Given the description of an element on the screen output the (x, y) to click on. 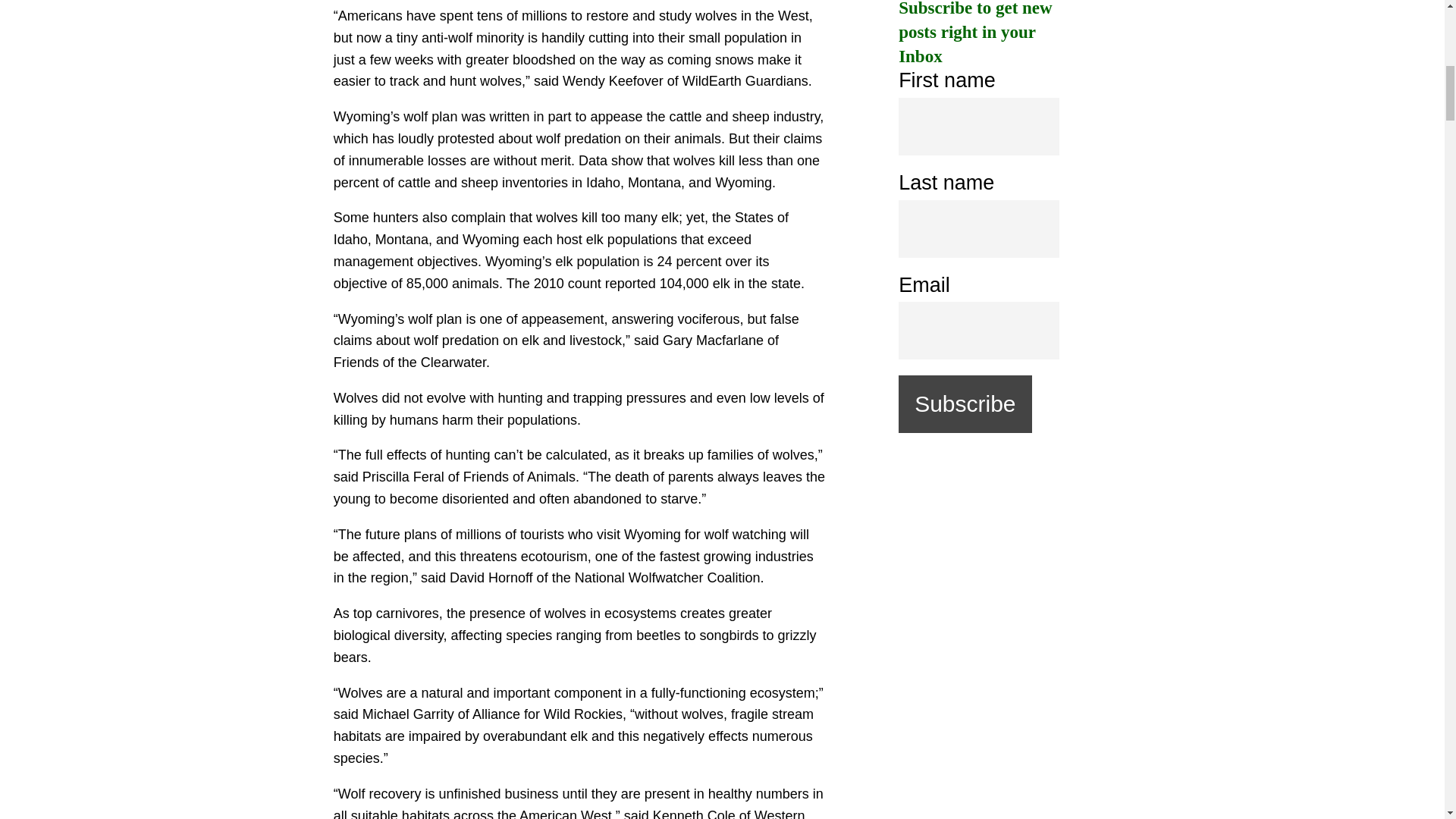
Subscribe (964, 404)
